Given the description of an element on the screen output the (x, y) to click on. 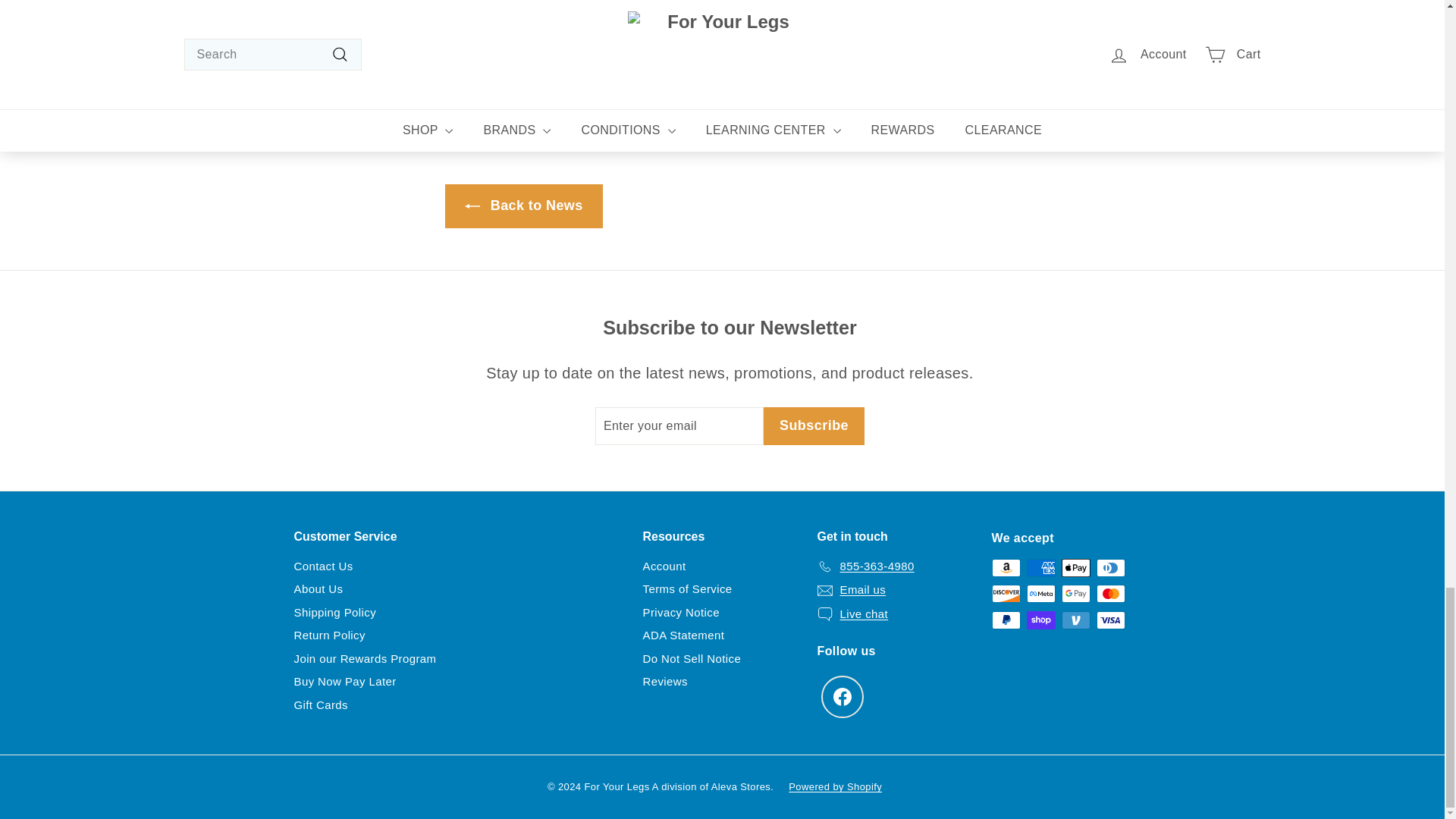
Amazon (1005, 567)
Discover (1005, 593)
American Express (1040, 567)
Apple Pay (1075, 567)
Diners Club (1110, 567)
For Your Legs on Facebook (842, 696)
icon-left-arrow (472, 206)
